Given the description of an element on the screen output the (x, y) to click on. 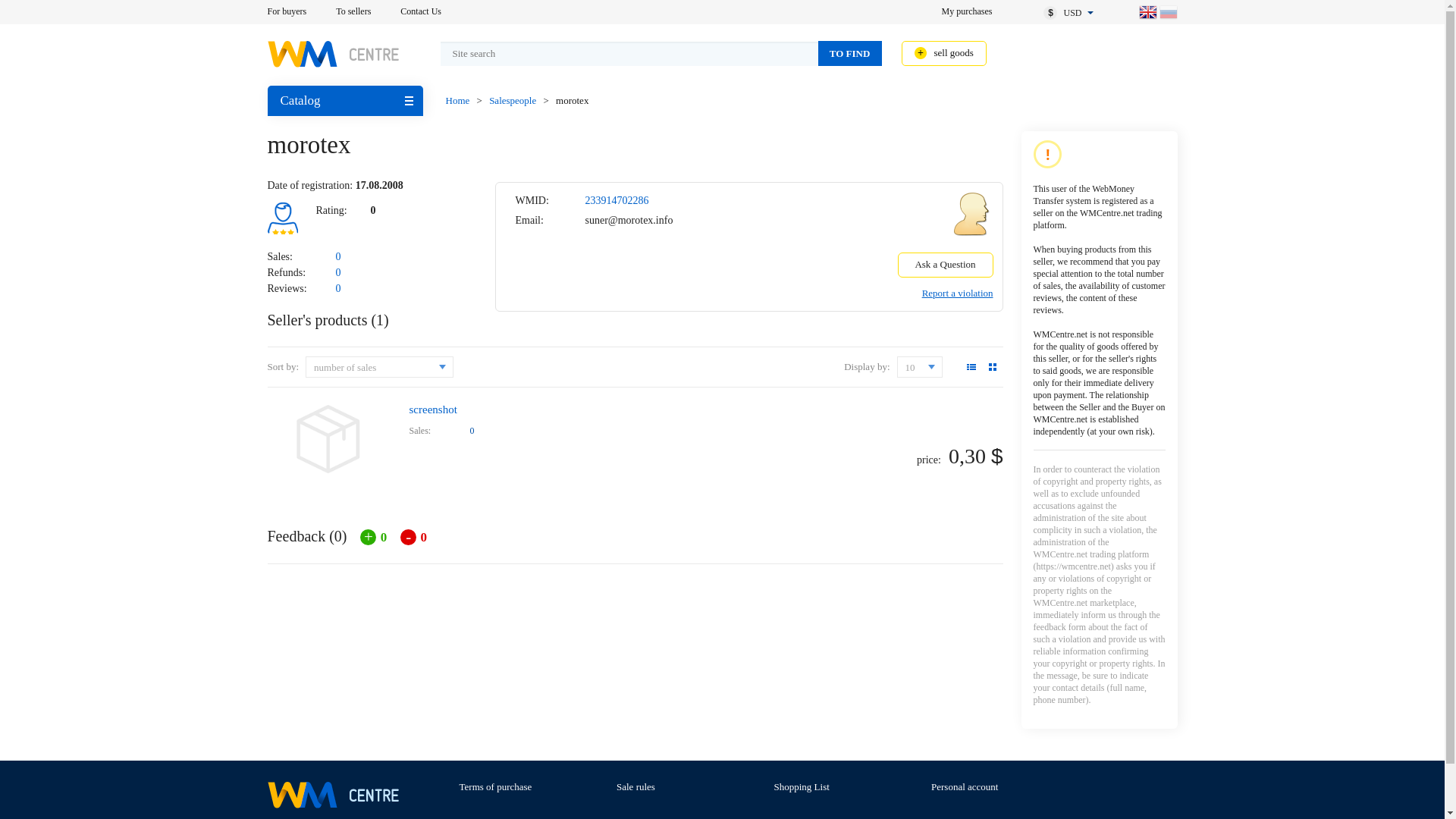
Contact Us (420, 10)
For buyers (285, 10)
To sellers (353, 10)
My purchases (967, 10)
sell goods (943, 53)
To find (848, 53)
To find (848, 53)
